Given the description of an element on the screen output the (x, y) to click on. 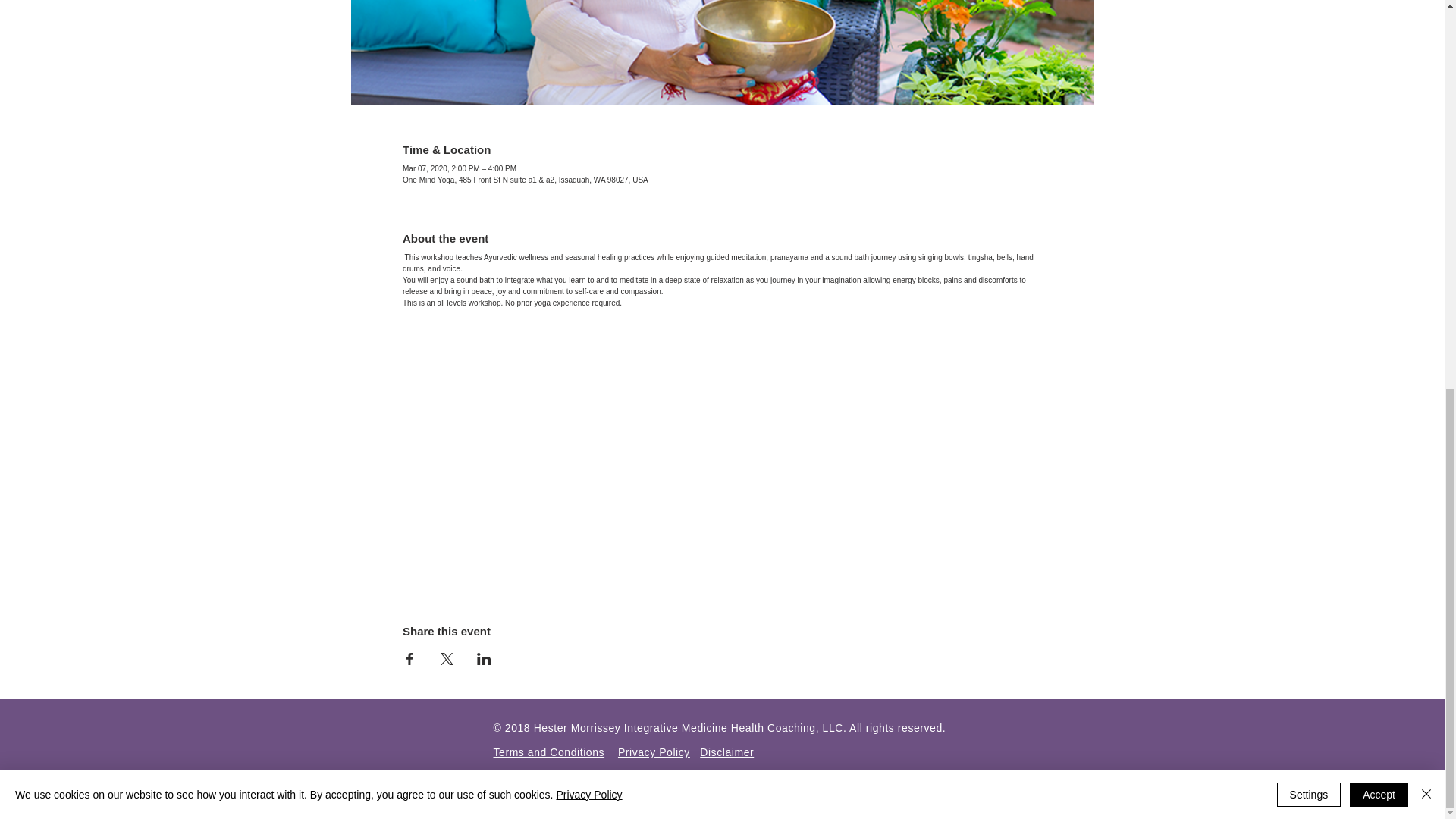
Accept (1378, 56)
Terms and Conditions (548, 752)
Privacy Policy (588, 56)
Disclaimer (727, 752)
Settings (1308, 56)
Privacy Policy (653, 752)
